Given the description of an element on the screen output the (x, y) to click on. 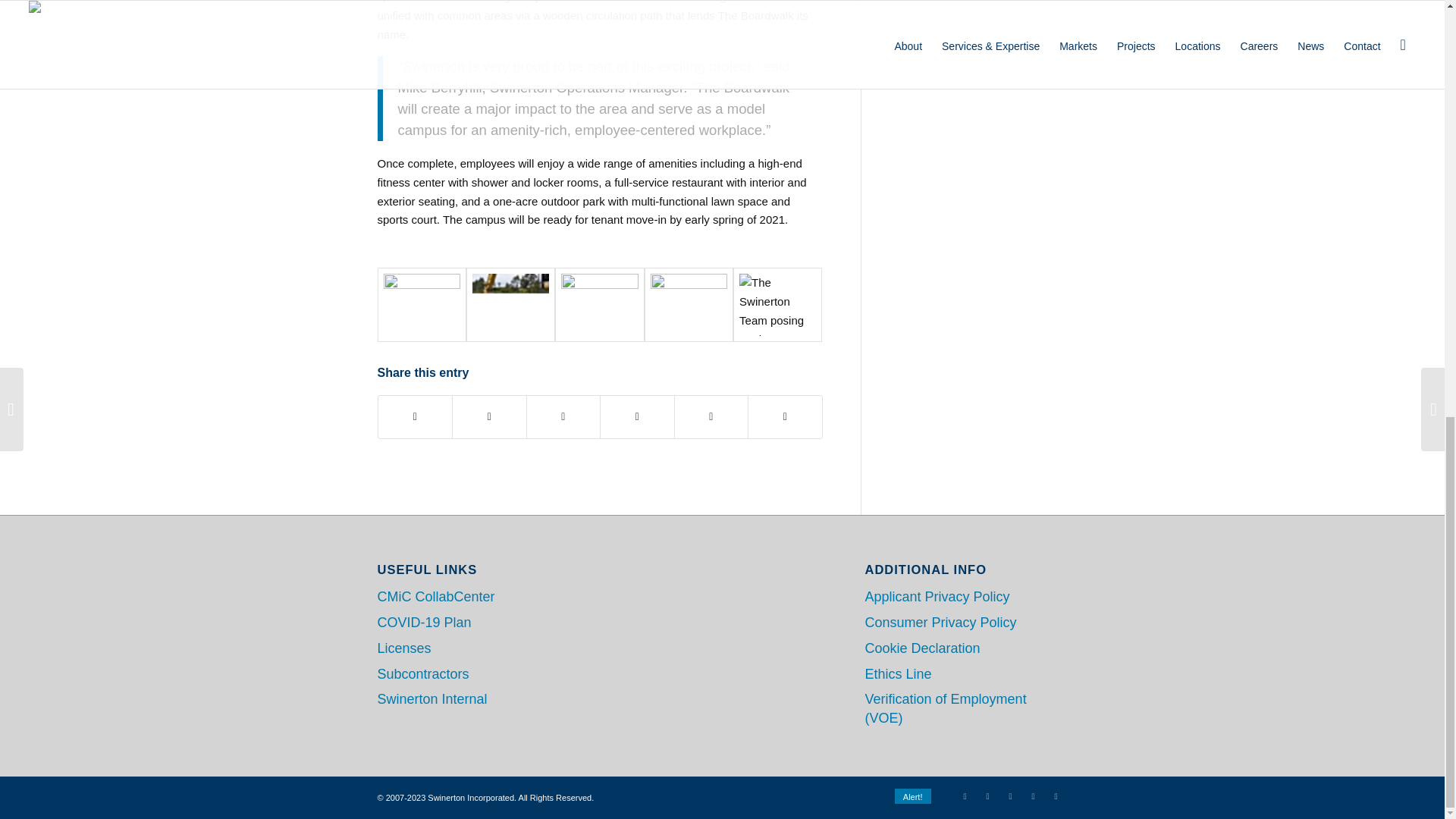
Swinerton-Boardwalk-Groundbreaking-4 (689, 304)
Swinerton Team - The Boardwalk Groundbreaking (777, 304)
Swinerton-Boardwalk-Groundbreaking-1 (509, 304)
Swinerton-Boardwalk-Groundbreaking-3 (421, 304)
Swinerton-Boardwalk-Groundbreaking-2 (598, 304)
